Given the description of an element on the screen output the (x, y) to click on. 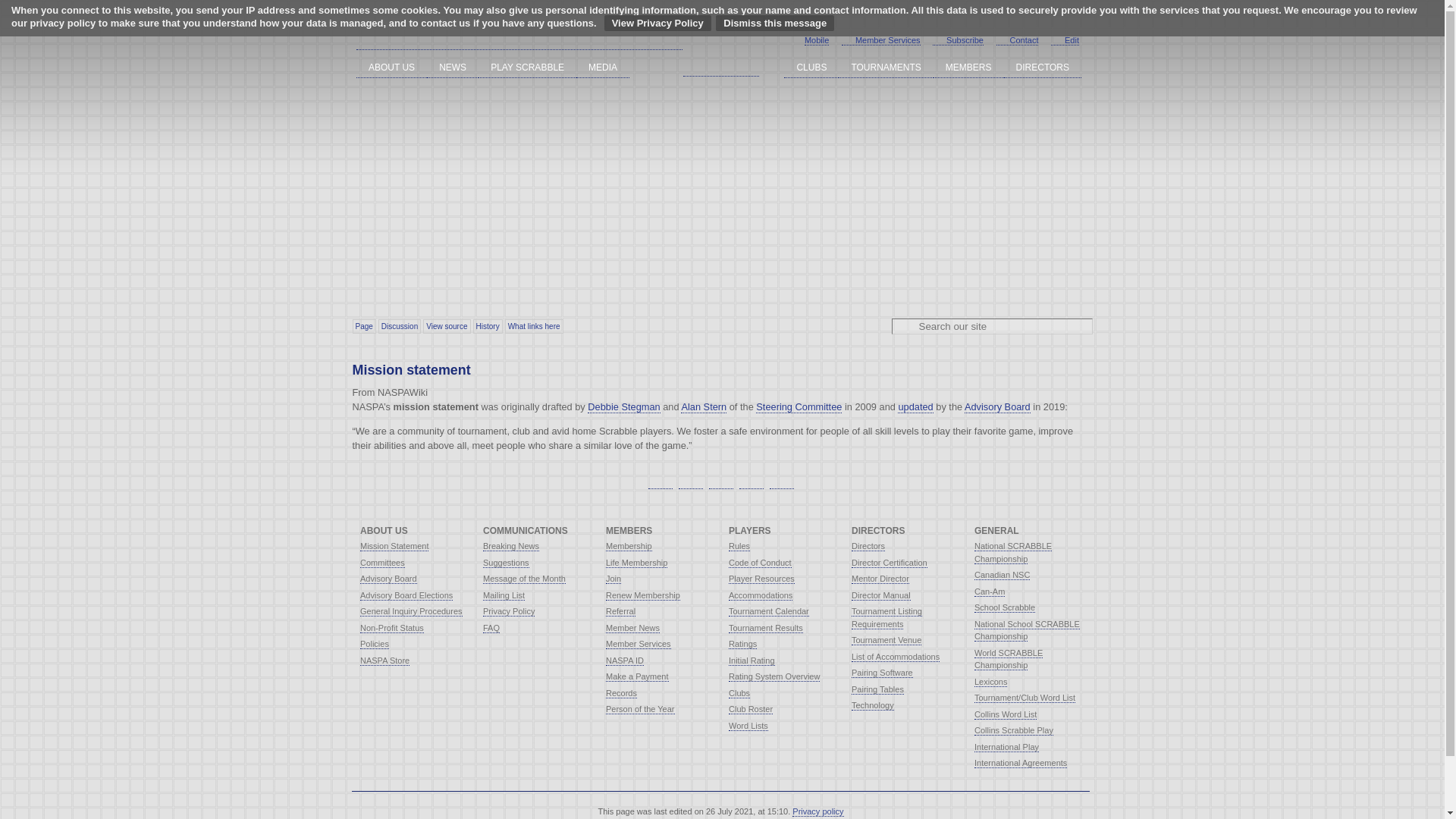
Subscribe (958, 40)
View Privacy Policy (657, 23)
Edit (1064, 40)
Dismiss this message (775, 23)
Member Services (880, 40)
NASPA Games (519, 38)
Subscribe (958, 40)
NASPA Games (720, 38)
Competitive Scrabble Play since 2009 (519, 38)
TOURNAMENTS (885, 67)
